Given the description of an element on the screen output the (x, y) to click on. 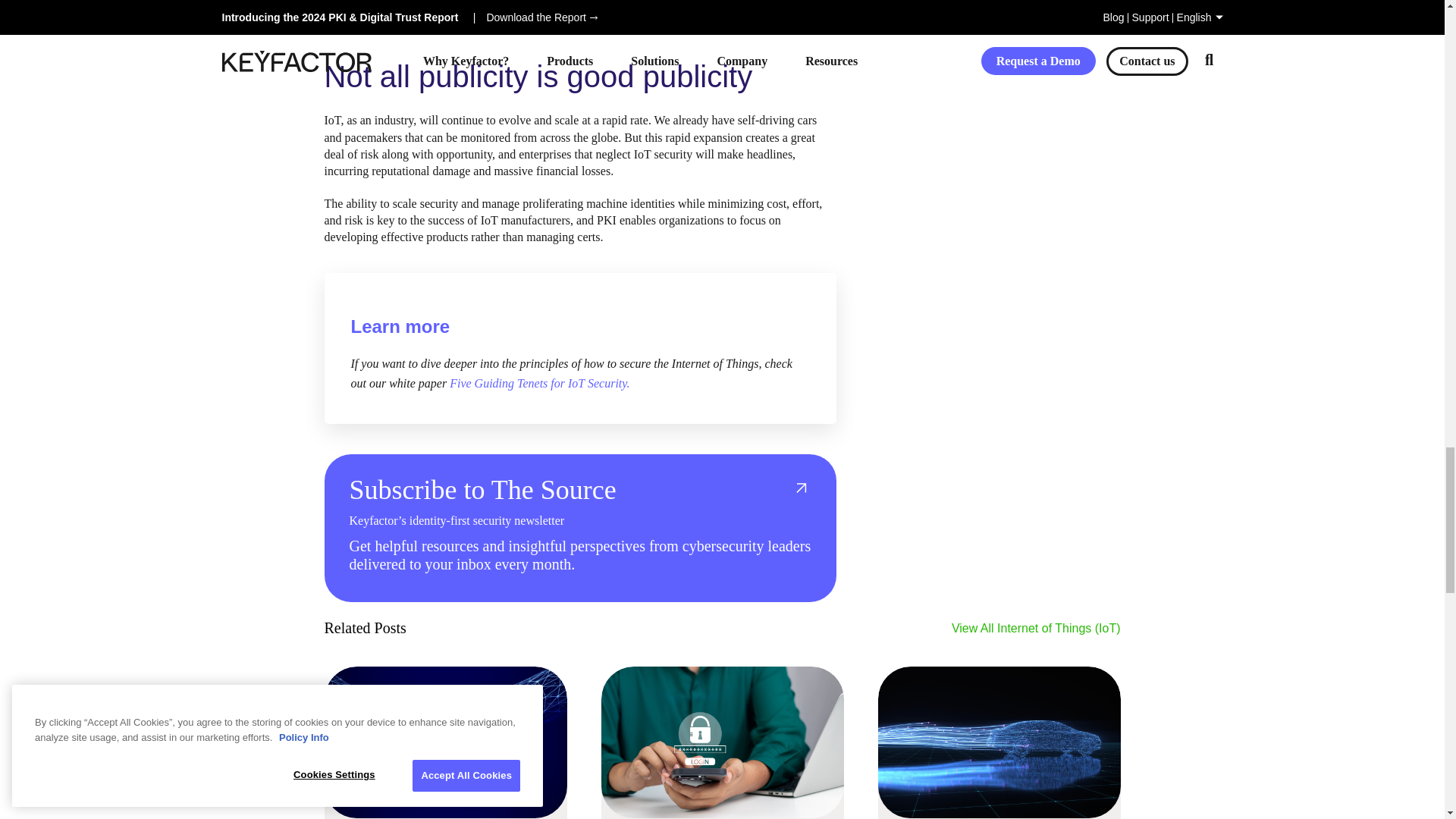
Subscribe to The Source (579, 490)
